Given the description of an element on the screen output the (x, y) to click on. 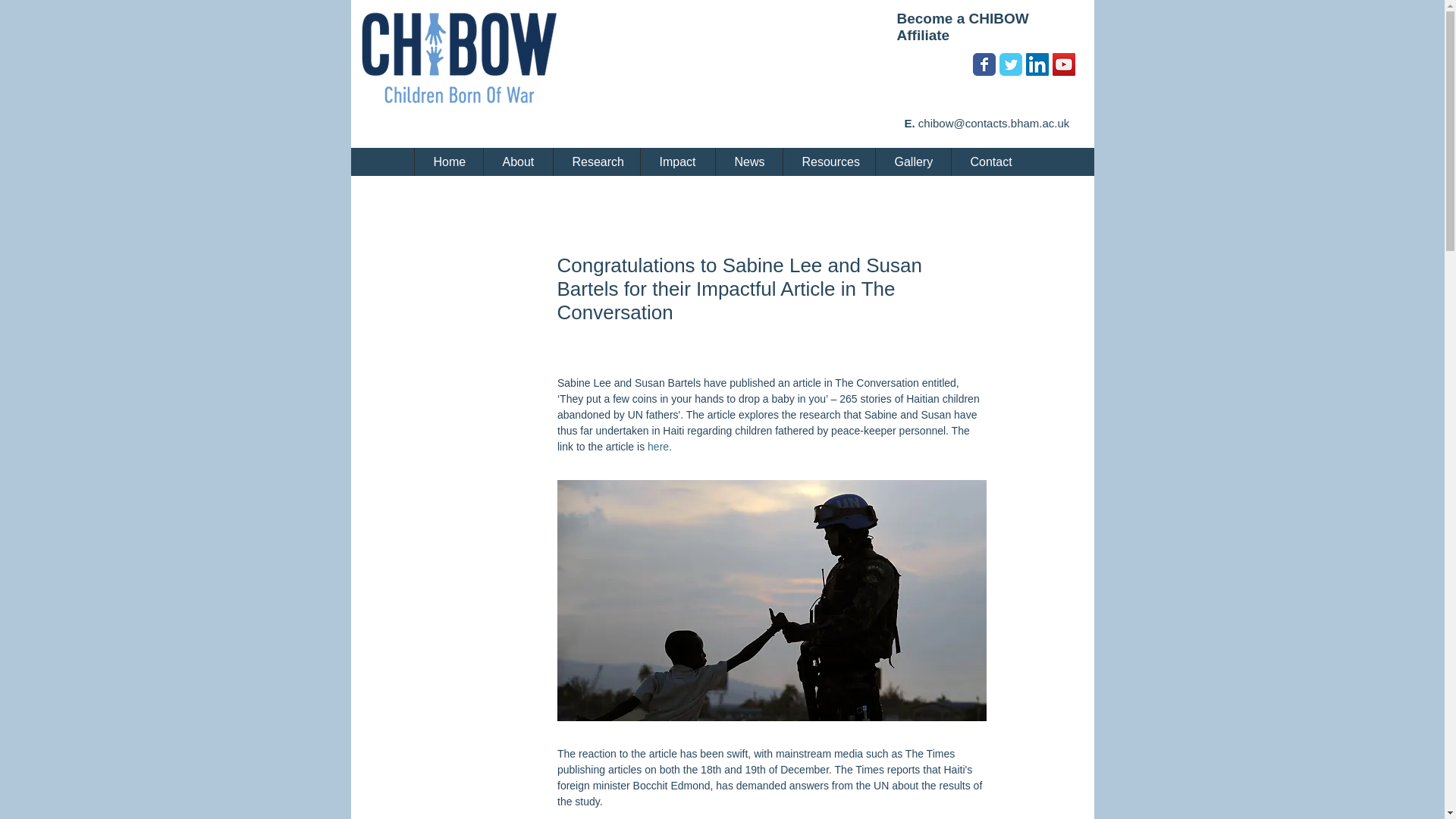
News (747, 161)
Resources (829, 161)
Research (595, 161)
Contact (990, 161)
About (516, 161)
Home (448, 161)
Gallery (912, 161)
Impact (677, 161)
Become a CHIBOW Affiliate (961, 26)
here.  (661, 445)
